Given the description of an element on the screen output the (x, y) to click on. 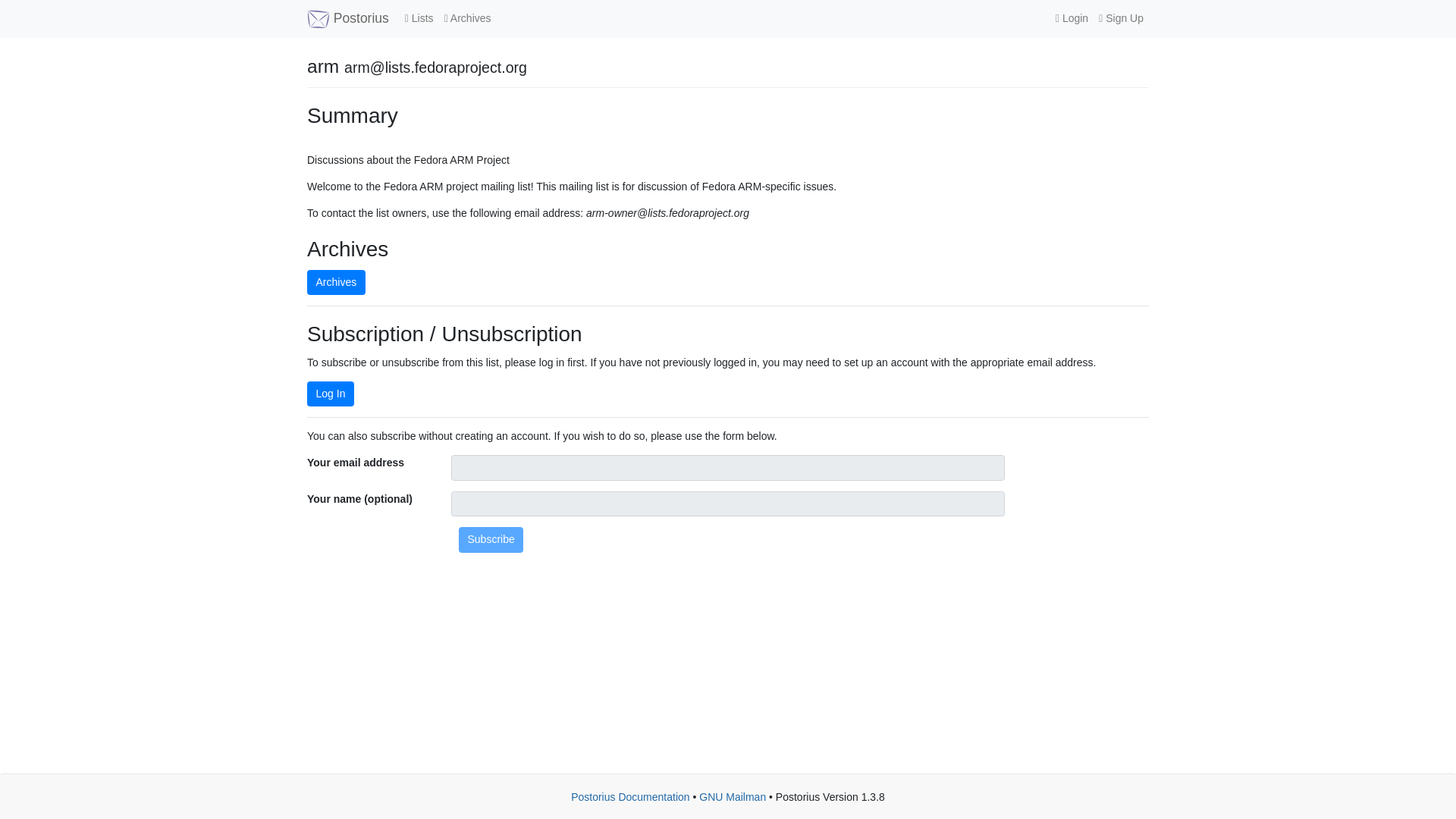
Archives (467, 17)
Postorius (347, 18)
Archives (336, 282)
Lists (418, 17)
Log In (330, 394)
Sign Up (1120, 17)
Login (1071, 17)
